Given the description of an element on the screen output the (x, y) to click on. 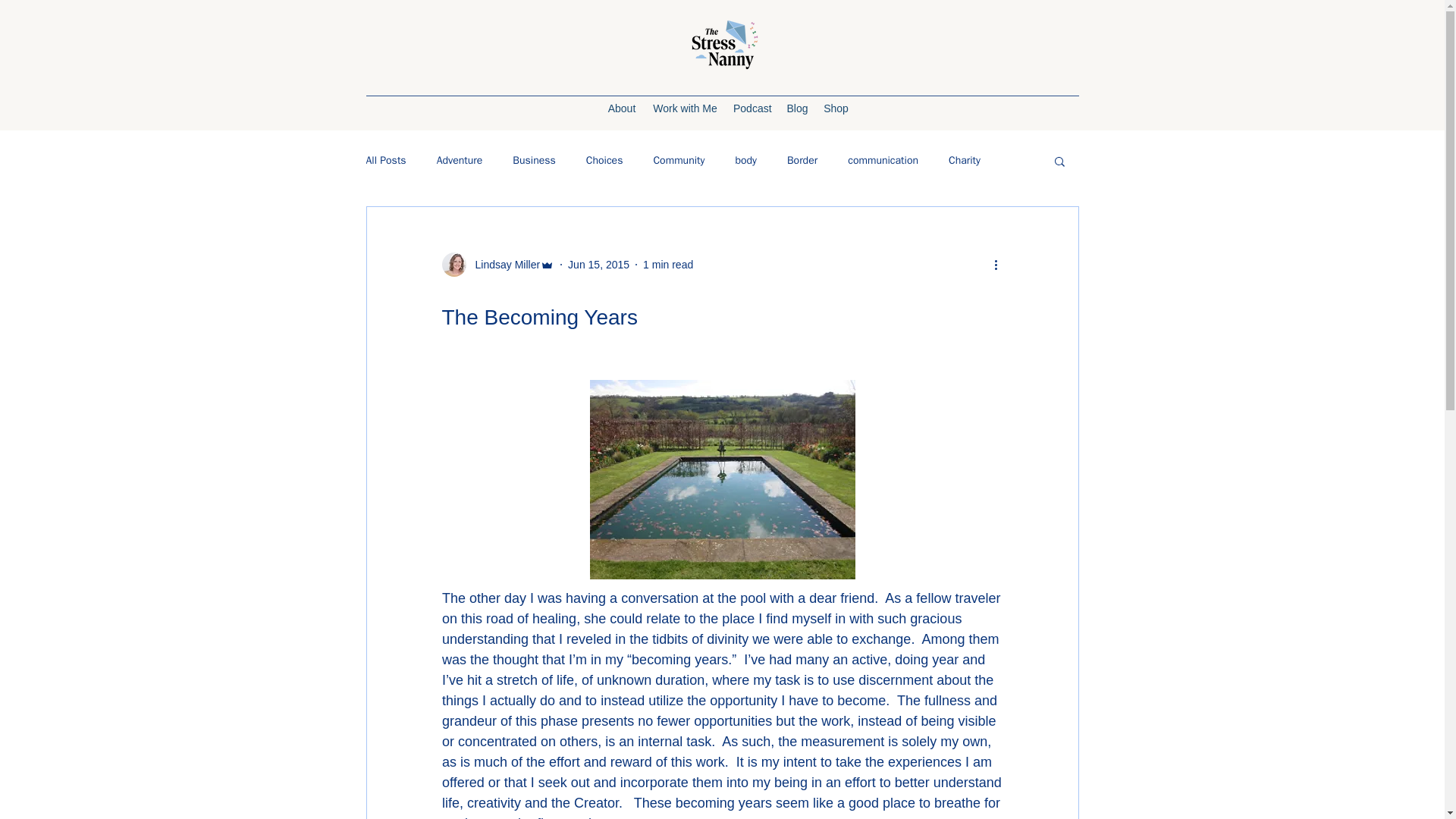
1 min read (668, 263)
Community (678, 160)
Blog (796, 108)
Choices (604, 160)
Shop (835, 108)
Jun 15, 2015 (597, 263)
Podcast (751, 108)
All Posts (385, 160)
About (621, 108)
Border (801, 160)
communication (882, 160)
Business (533, 160)
Charity (964, 160)
Work with Me (685, 108)
Lindsay Miller (502, 263)
